Given the description of an element on the screen output the (x, y) to click on. 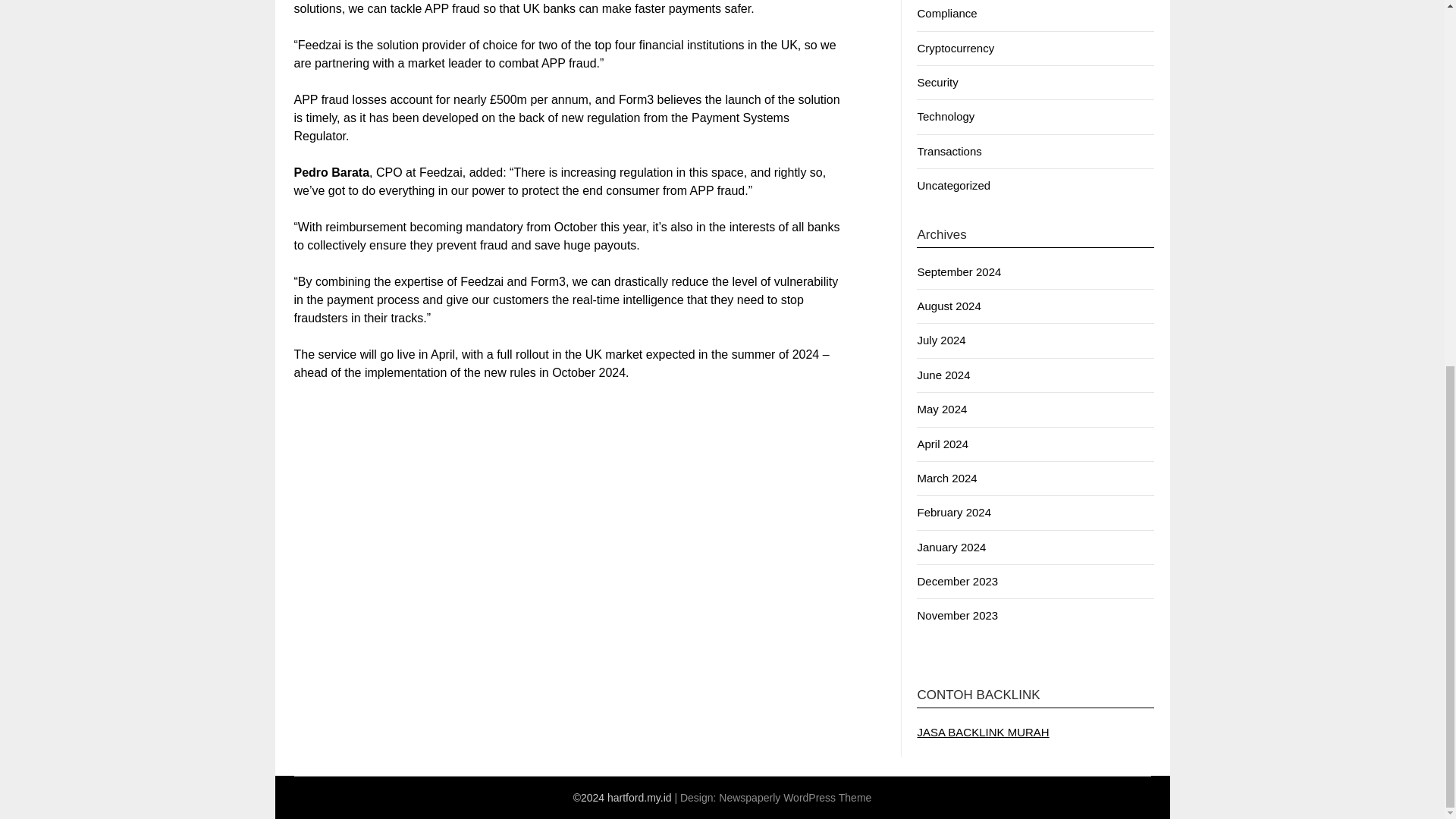
Transactions (949, 151)
Technology (945, 115)
JASA BACKLINK MURAH (982, 731)
June 2024 (943, 374)
September 2024 (959, 271)
March 2024 (946, 477)
July 2024 (941, 339)
January 2024 (951, 546)
Compliance (946, 12)
April 2024 (942, 443)
